Given the description of an element on the screen output the (x, y) to click on. 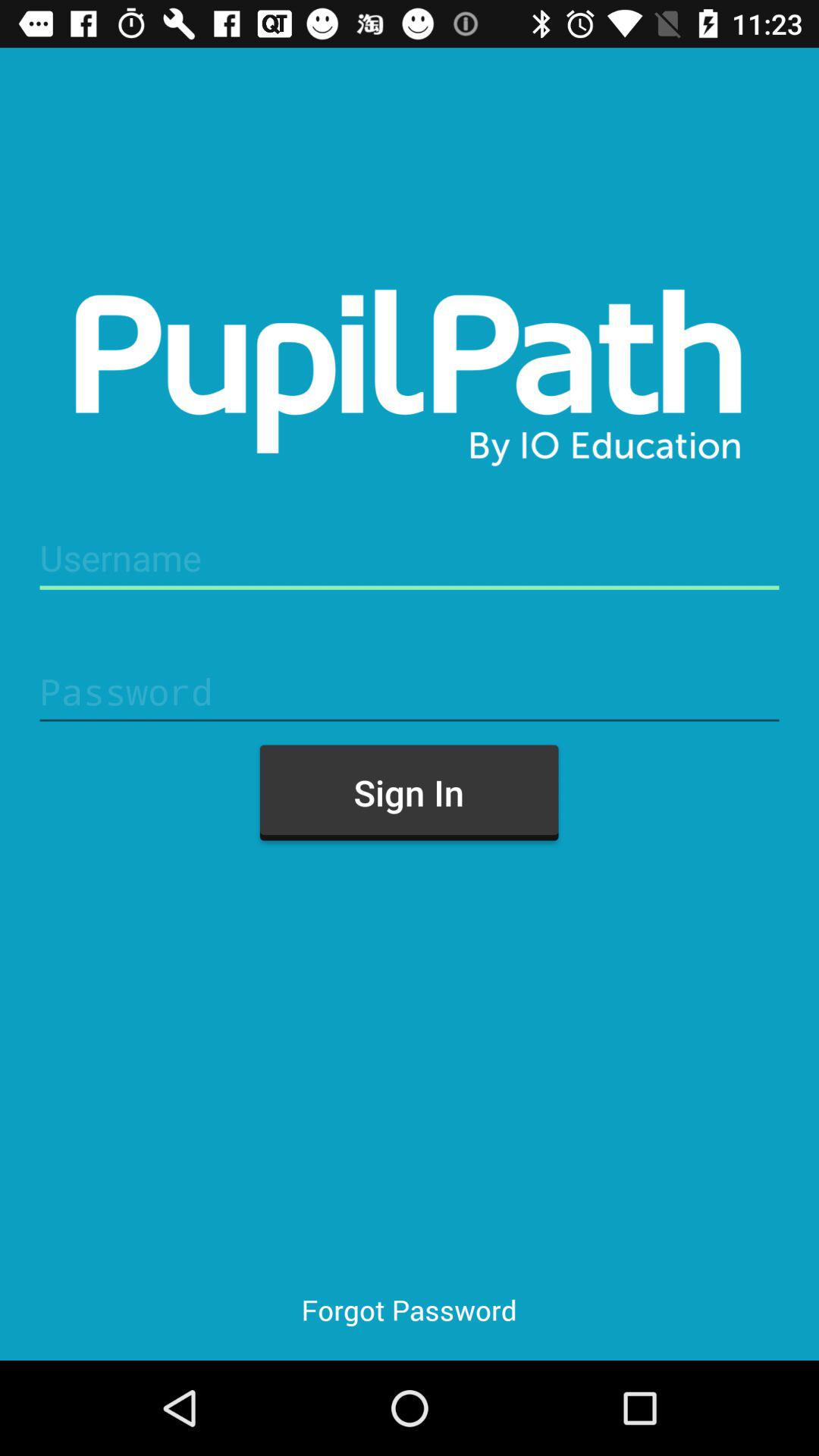
select item above the sign in (409, 692)
